Given the description of an element on the screen output the (x, y) to click on. 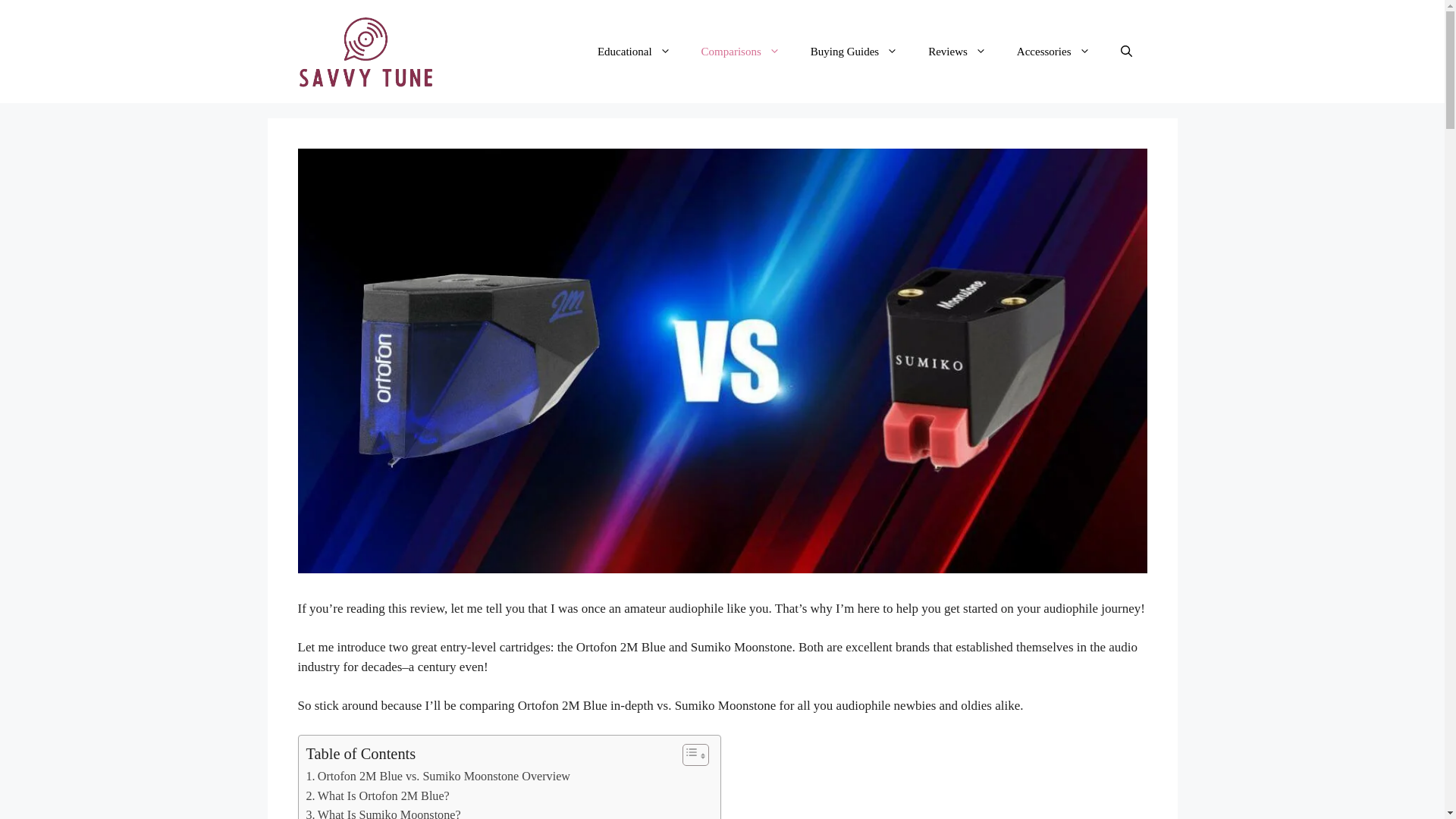
Reviews (956, 51)
Ortofon 2M Blue vs. Sumiko Moonstone Overview (437, 776)
Buying Guides (853, 51)
What Is Sumiko Moonstone? (383, 812)
Accessories (1053, 51)
Educational (633, 51)
What Is Ortofon 2M Blue? (377, 795)
Comparisons (739, 51)
